Given the description of an element on the screen output the (x, y) to click on. 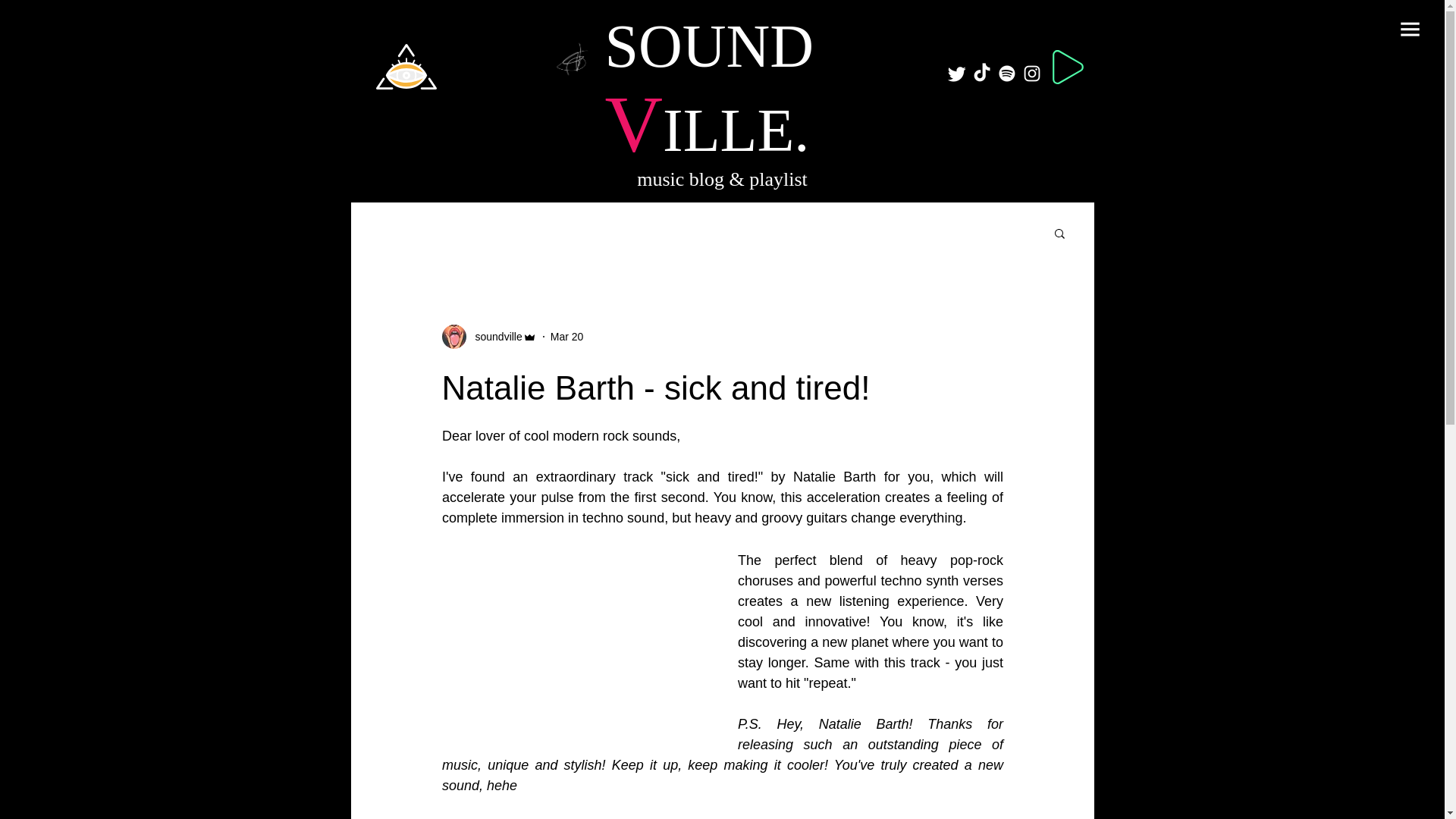
Mar 20 (566, 336)
SOUNDVILLE. (709, 90)
soundville (488, 336)
soundville (493, 336)
